Given the description of an element on the screen output the (x, y) to click on. 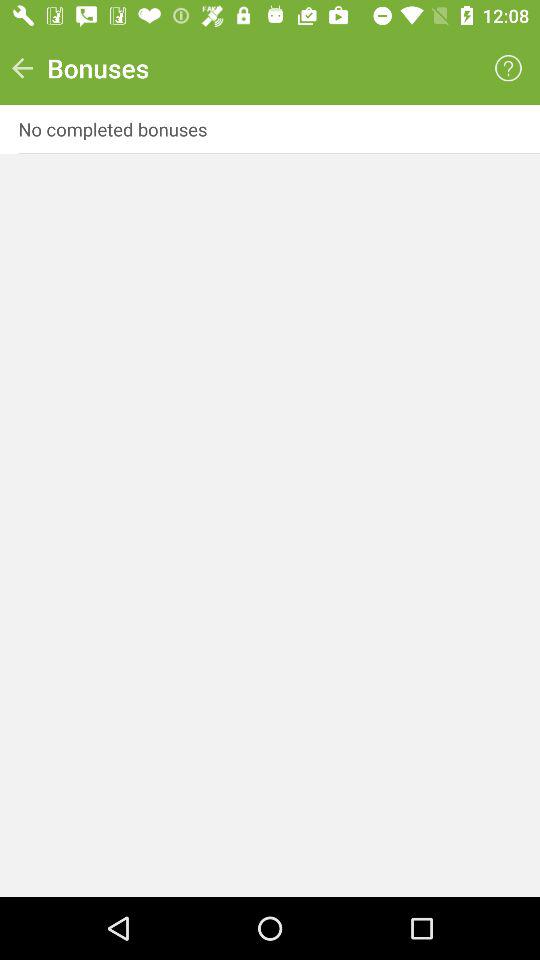
turn on the icon to the left of the bonuses icon (22, 67)
